Given the description of an element on the screen output the (x, y) to click on. 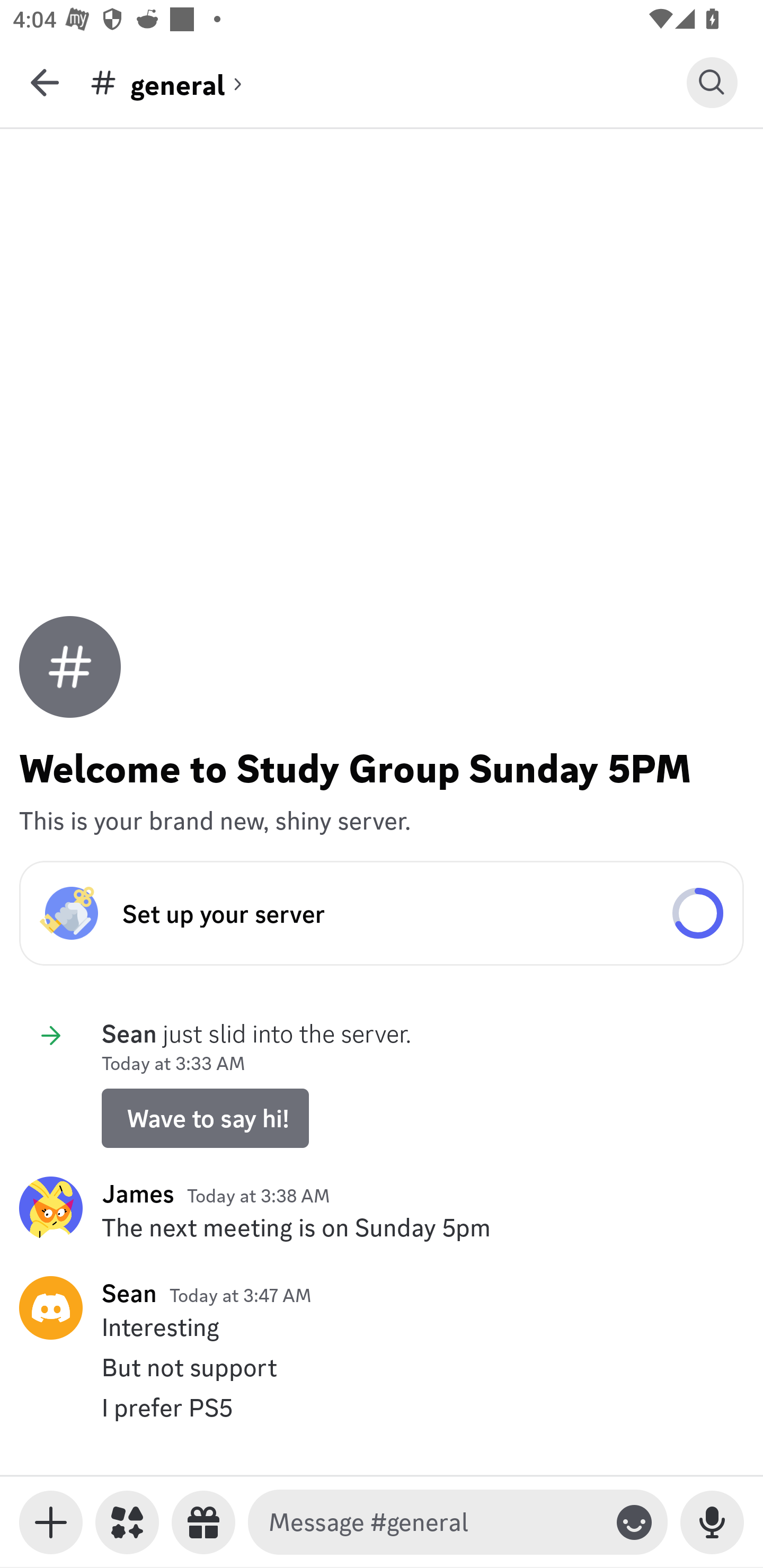
general (channel) general general (channel) (387, 82)
Back (44, 82)
Search (711, 82)
Set up your server (381, 912)
Wave to say hi! (205, 1117)
James (137, 1193)
Sean (129, 1292)
yuxiang.007, But not support But not support (381, 1366)
yuxiang.007, I prefer PS5 I prefer PS5 (381, 1406)
Message #general Toggle emoji keyboard (457, 1522)
Toggle media keyboard (50, 1522)
Apps (126, 1522)
Send a gift (203, 1522)
Record Voice Message (711, 1522)
Toggle emoji keyboard (634, 1522)
